Given the description of an element on the screen output the (x, y) to click on. 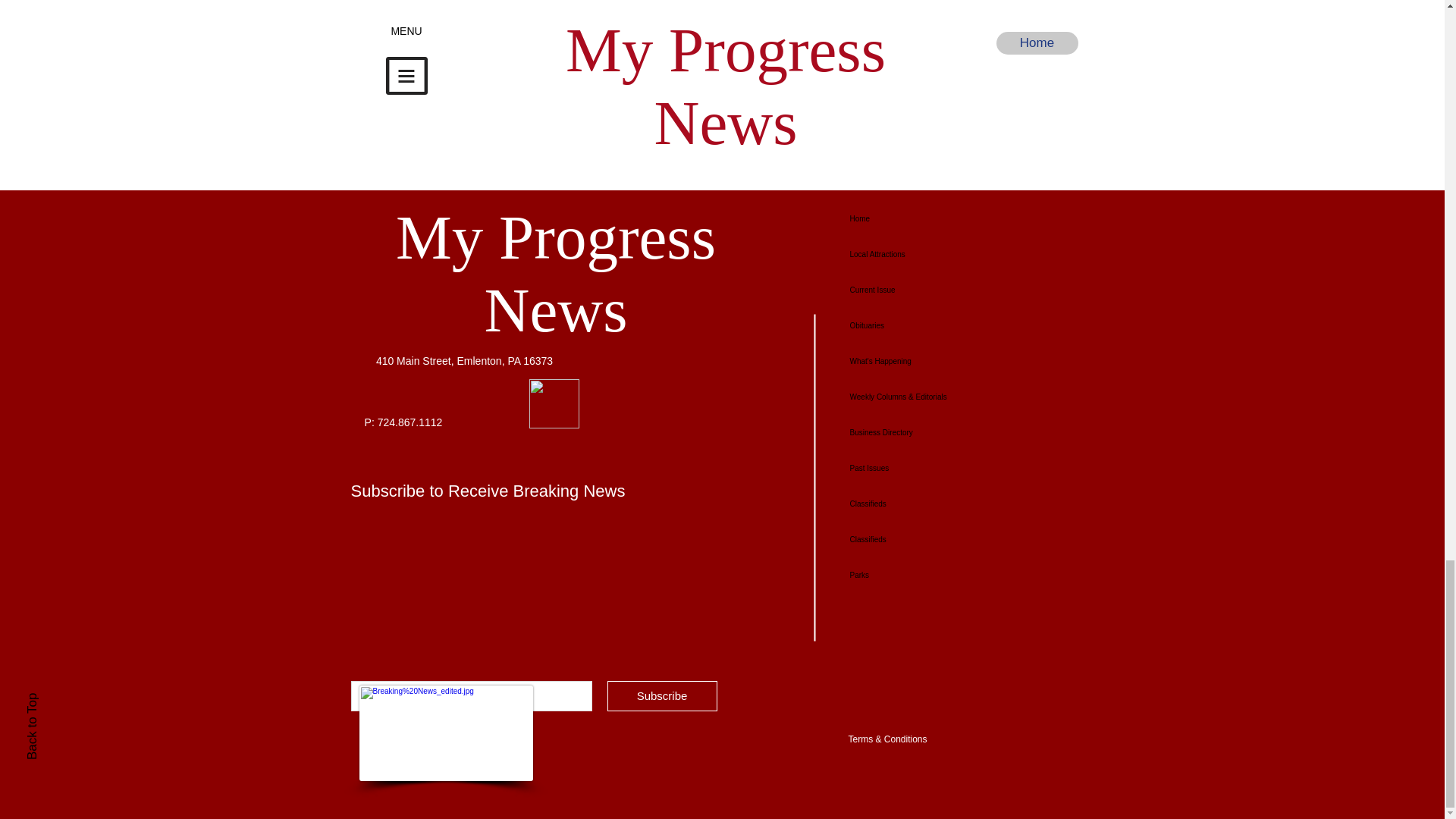
Local Attractions (946, 253)
Parks (946, 574)
What's Happening (946, 361)
Obituaries (946, 325)
0 (691, 133)
P: 724.867.1112 (800, 133)
Current Issue (403, 422)
The Christophers: Carlo Acutis Points Us Toward Heaven (946, 289)
Home (967, 81)
